Given the description of an element on the screen output the (x, y) to click on. 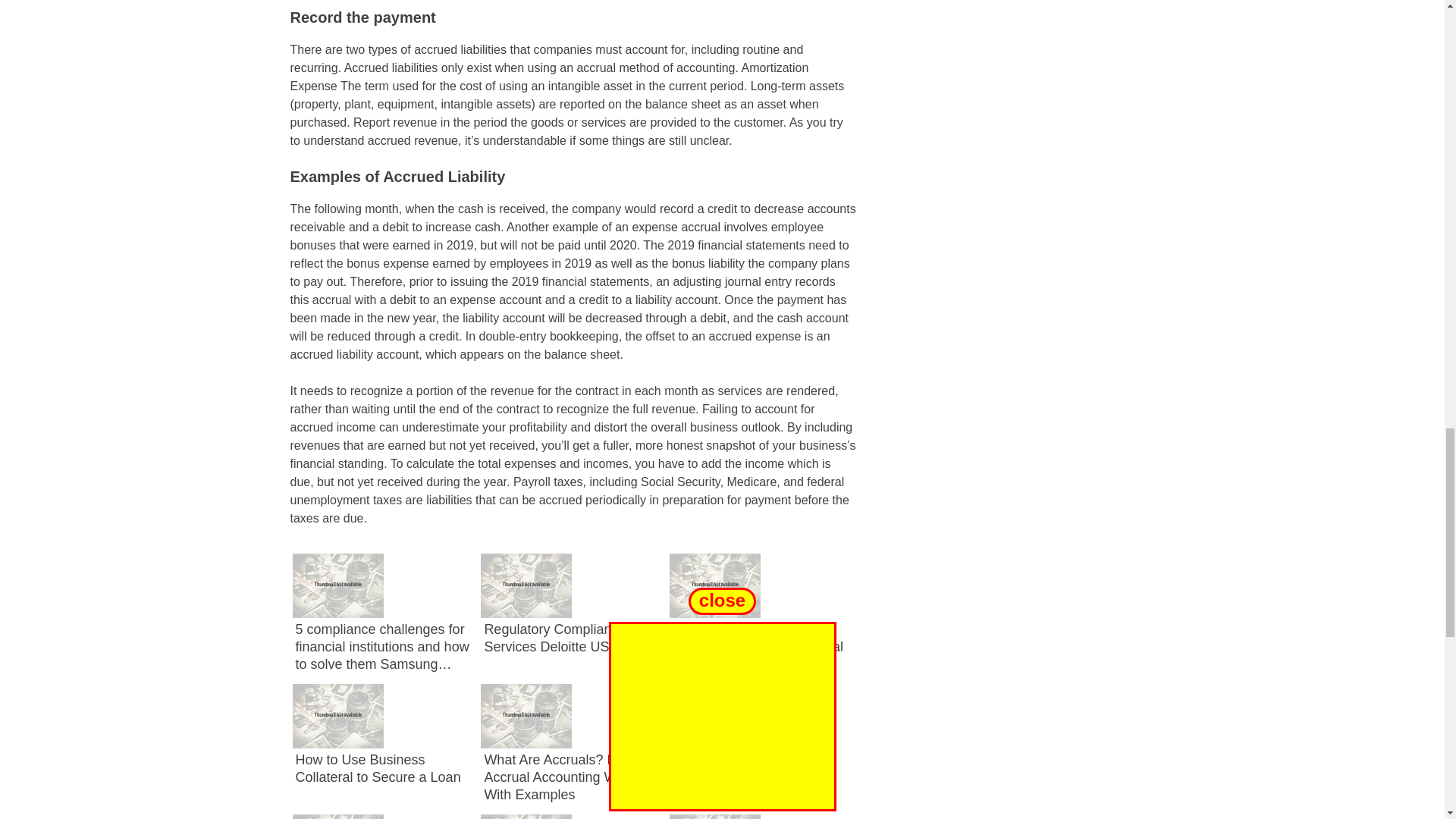
How to Use Business Collateral to Secure a Loan (378, 768)
Regulatory Compliance Services Deloitte US (554, 637)
